Given the description of an element on the screen output the (x, y) to click on. 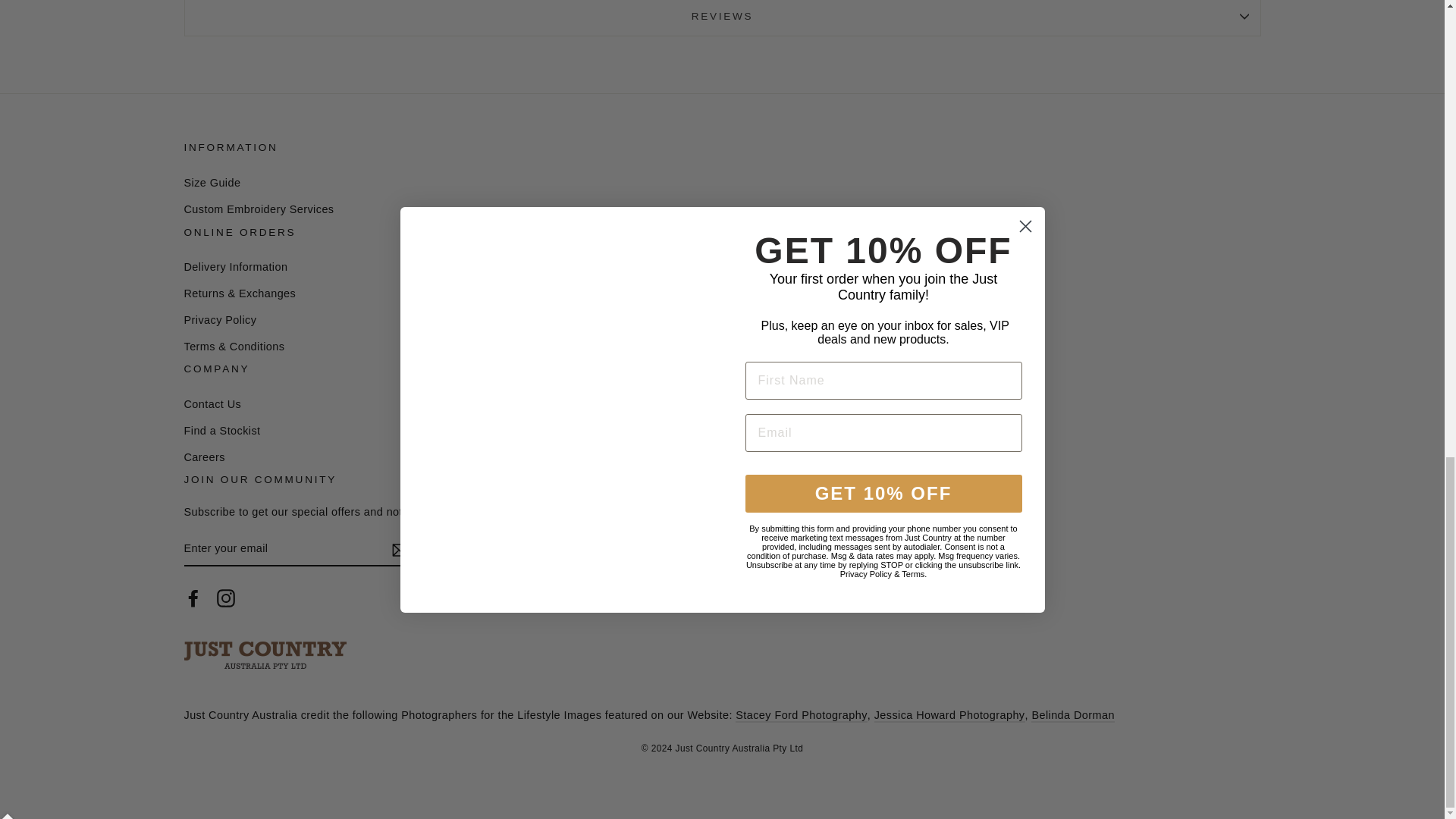
Just Country Australia Pty Ltd on Facebook (192, 597)
Just Country Australia Pty Ltd on Instagram (225, 597)
